Given the description of an element on the screen output the (x, y) to click on. 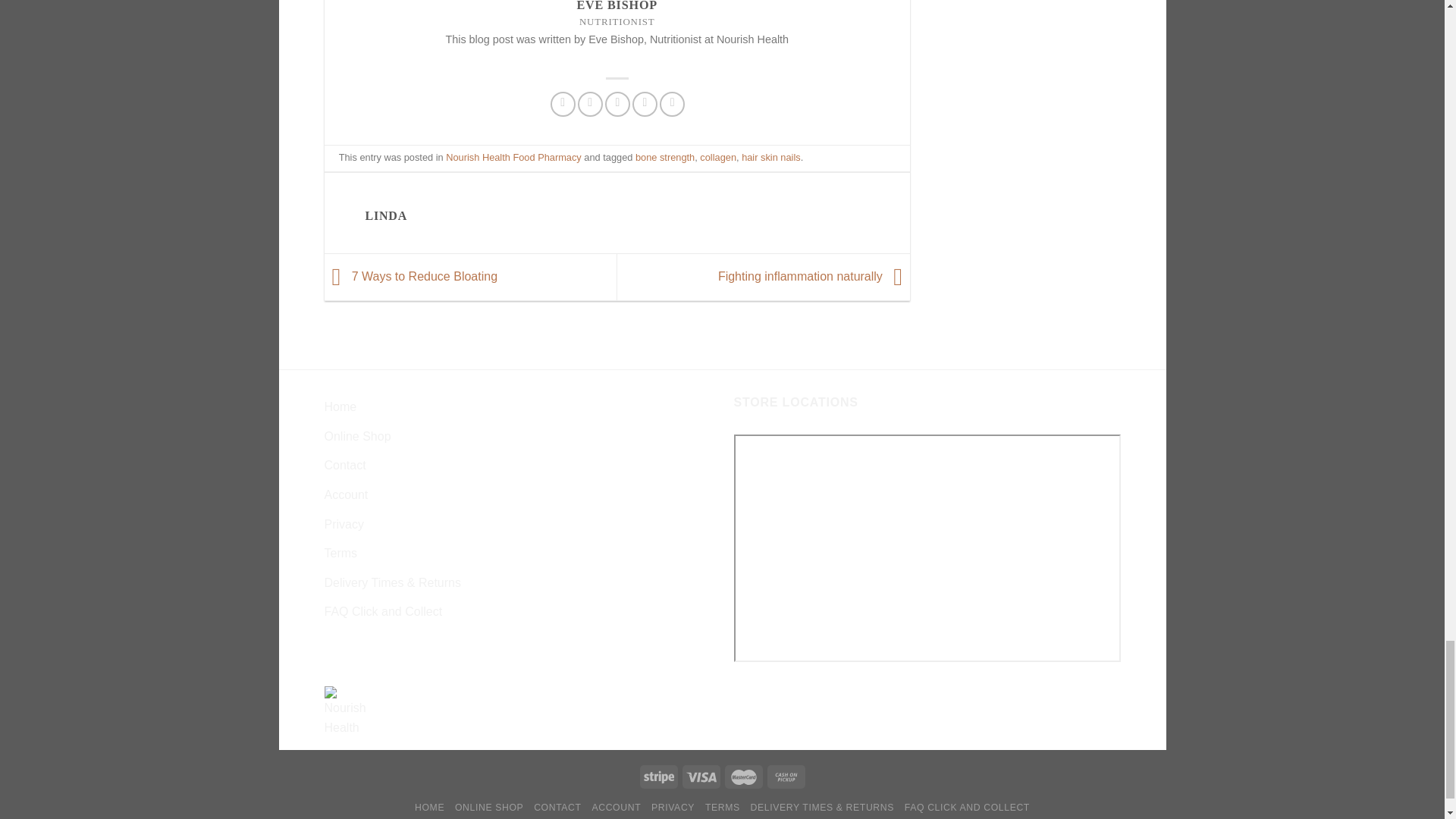
Email to a Friend (617, 104)
Share on Twitter (590, 104)
Share on LinkedIn (671, 104)
Share on Facebook (562, 104)
Pin on Pinterest (644, 104)
